Given the description of an element on the screen output the (x, y) to click on. 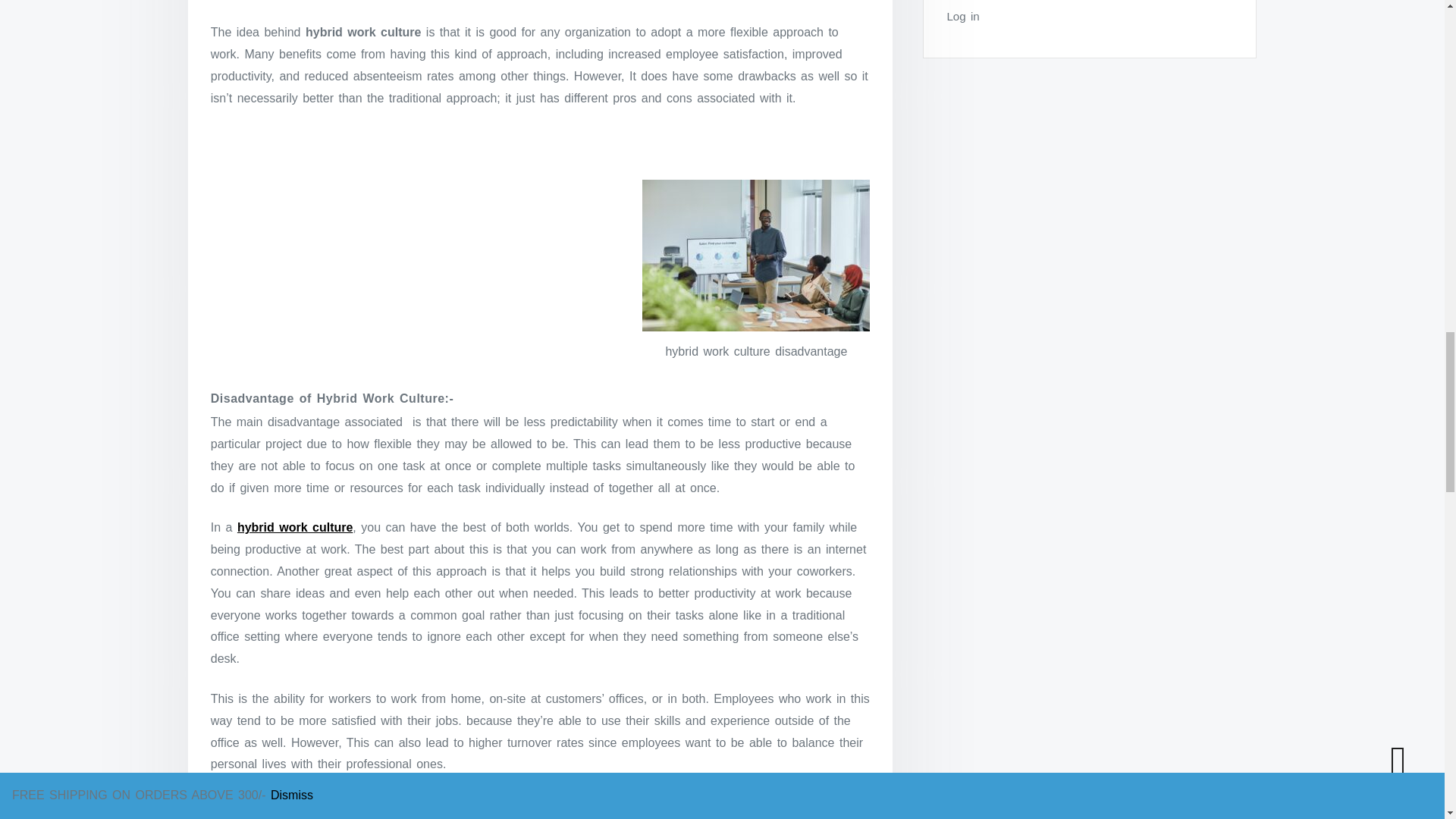
hybrid work culture (294, 526)
Hybrid work culture (269, 803)
